Given the description of an element on the screen output the (x, y) to click on. 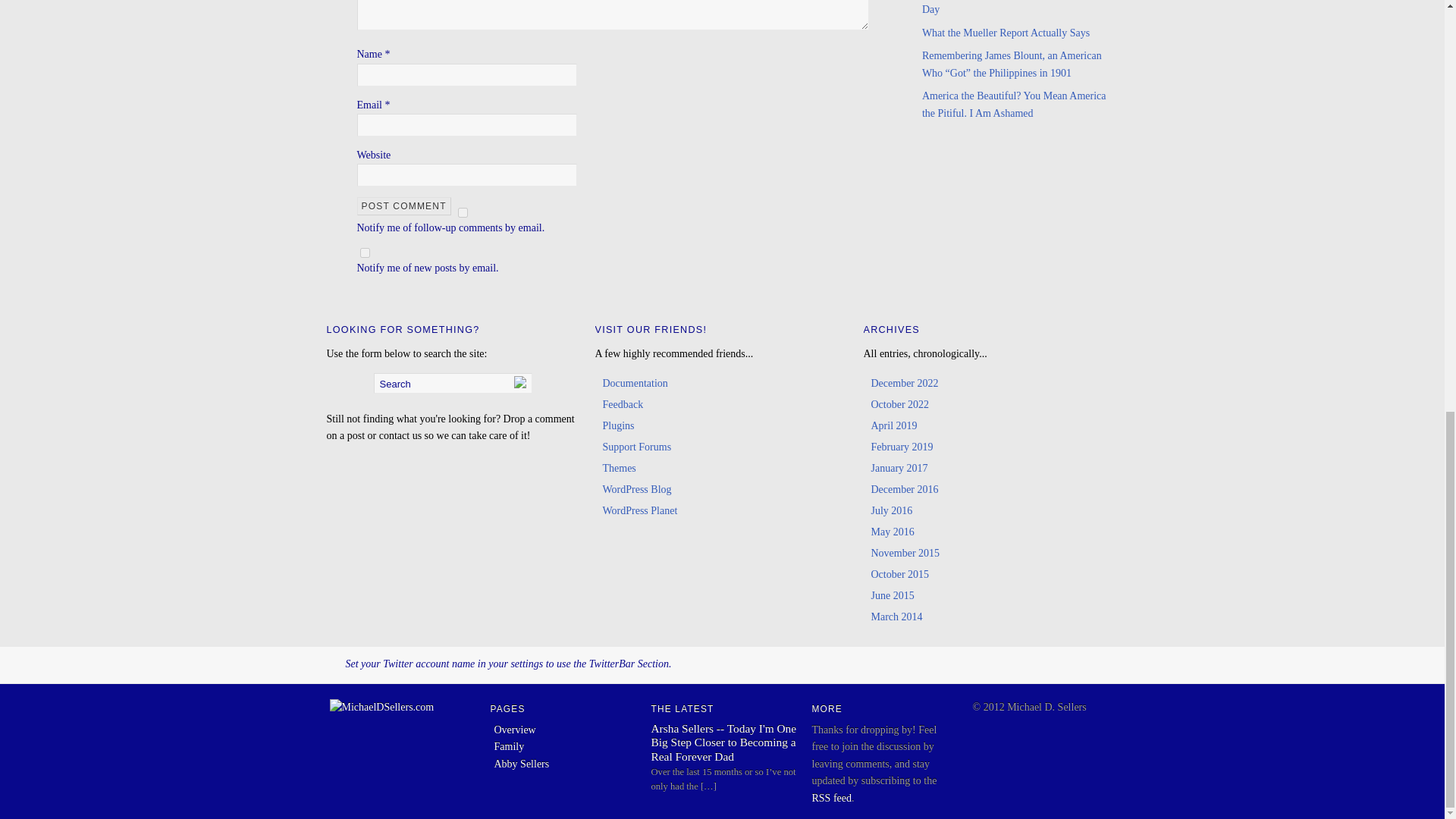
Search (451, 383)
Plugins (617, 425)
Post Comment (402, 206)
Documentation (634, 383)
Support Forums (636, 446)
Home (381, 706)
Post Comment (402, 206)
What the Mueller Report Actually Says (1005, 31)
Feedback (622, 404)
subscribe (364, 252)
subscribe (462, 212)
Search (451, 383)
